Given the description of an element on the screen output the (x, y) to click on. 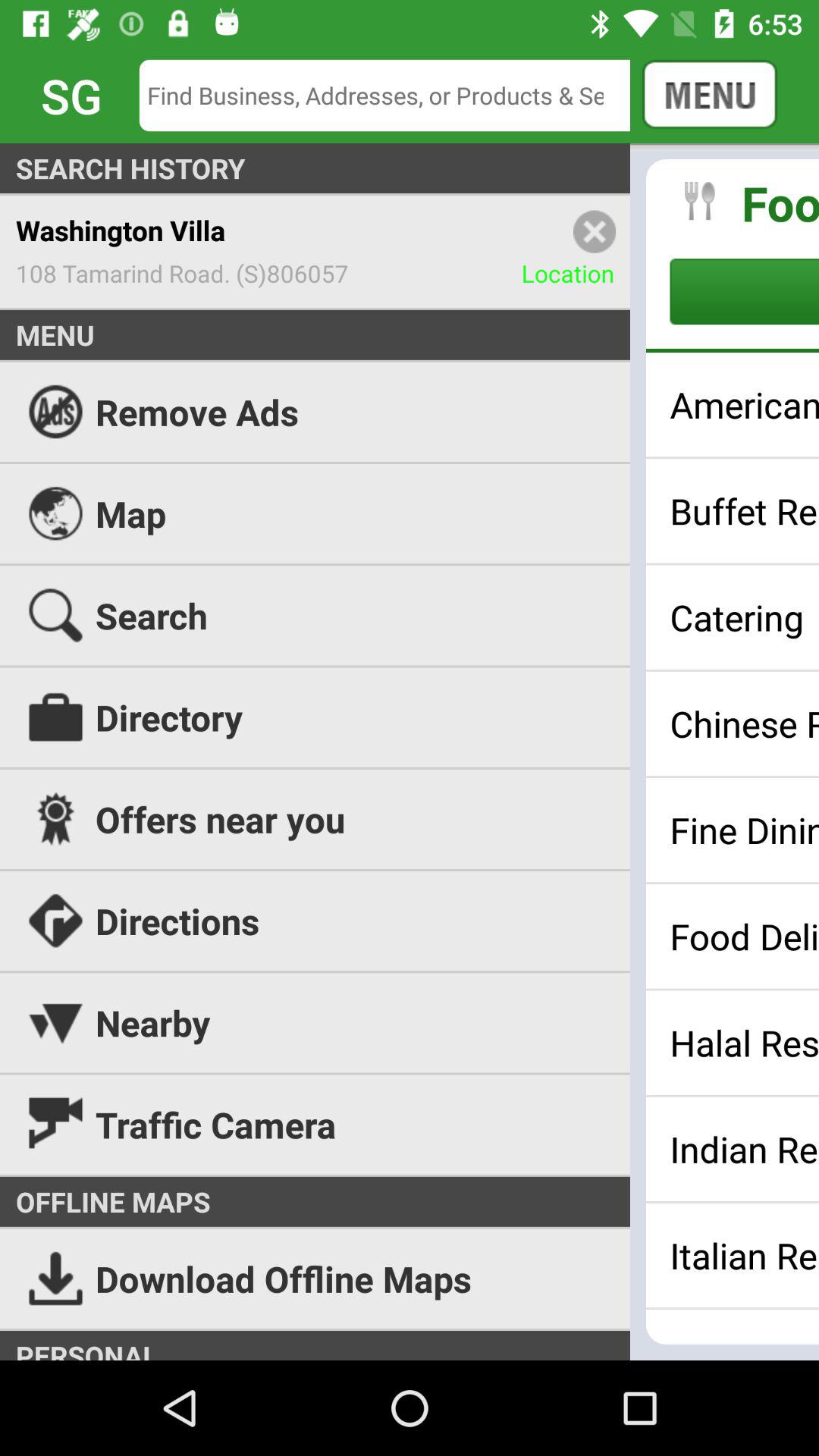
flip to the nearby (409, 1022)
